Given the description of an element on the screen output the (x, y) to click on. 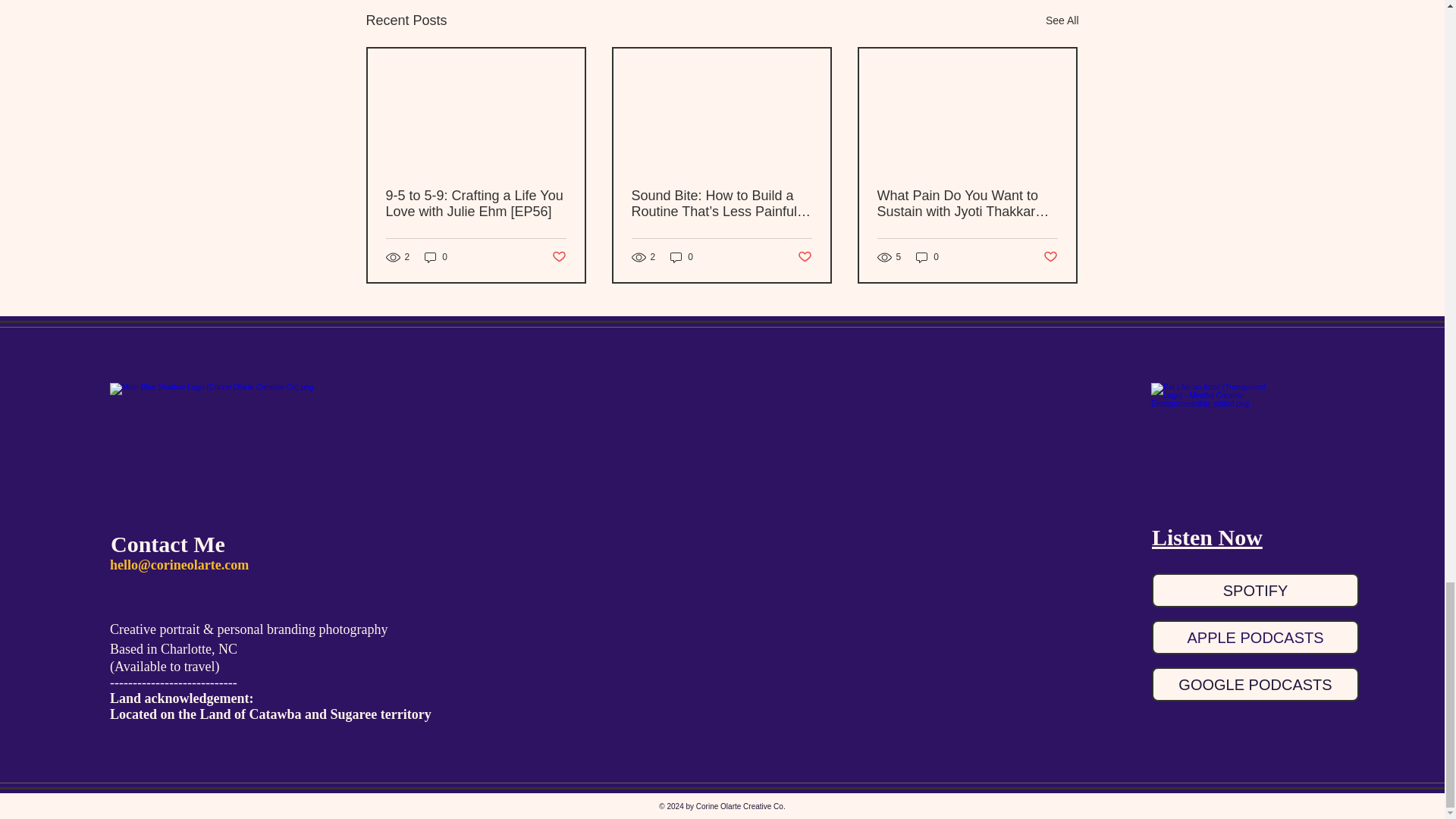
0 (435, 257)
See All (1061, 20)
Post not marked as liked (558, 257)
0 (681, 257)
